Given the description of an element on the screen output the (x, y) to click on. 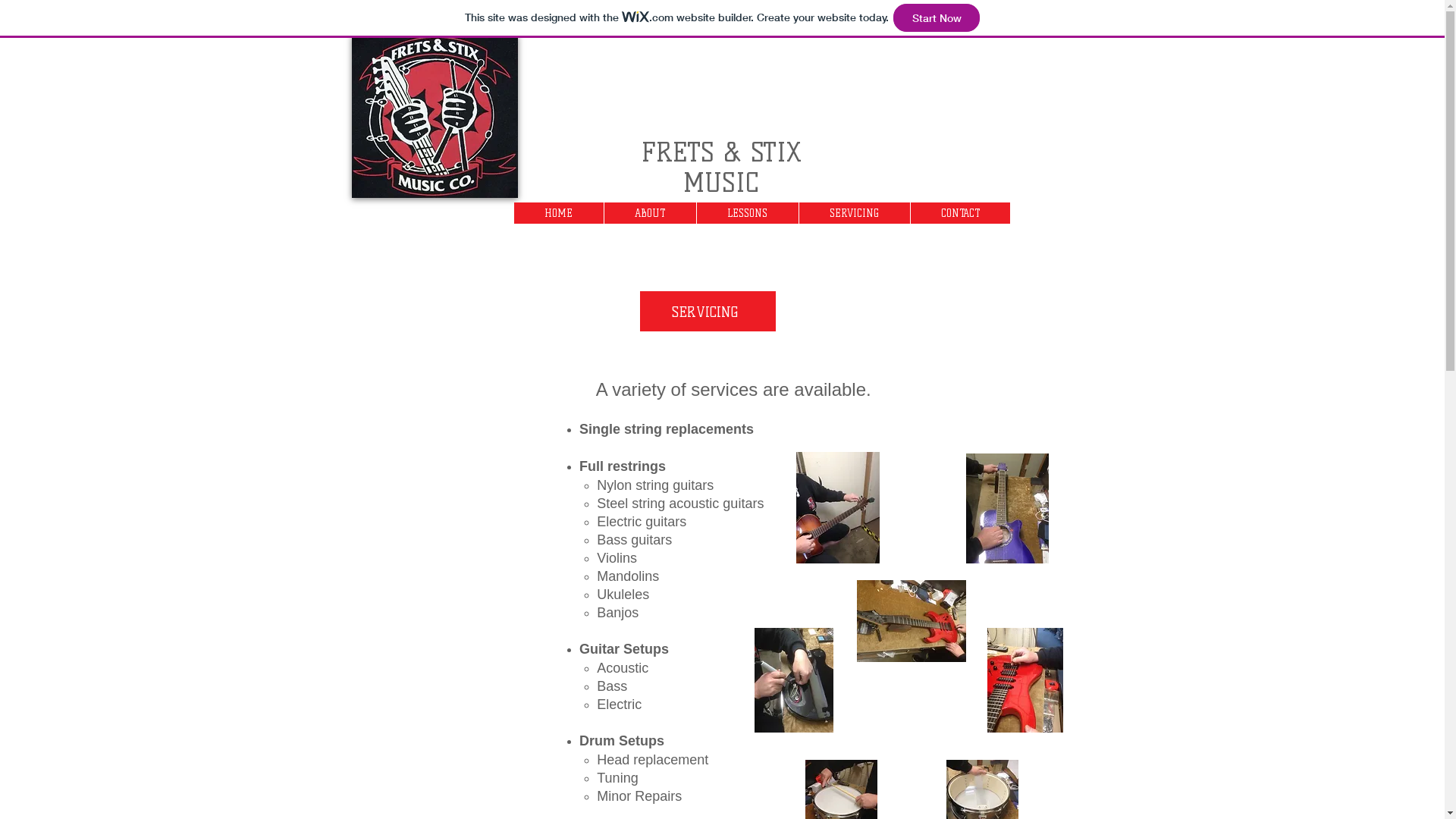
CONTACT Element type: text (960, 212)
HOME Element type: text (558, 212)
LESSONS Element type: text (747, 212)
ABOUT Element type: text (649, 212)
SERVICING Element type: text (853, 212)
